Given the description of an element on the screen output the (x, y) to click on. 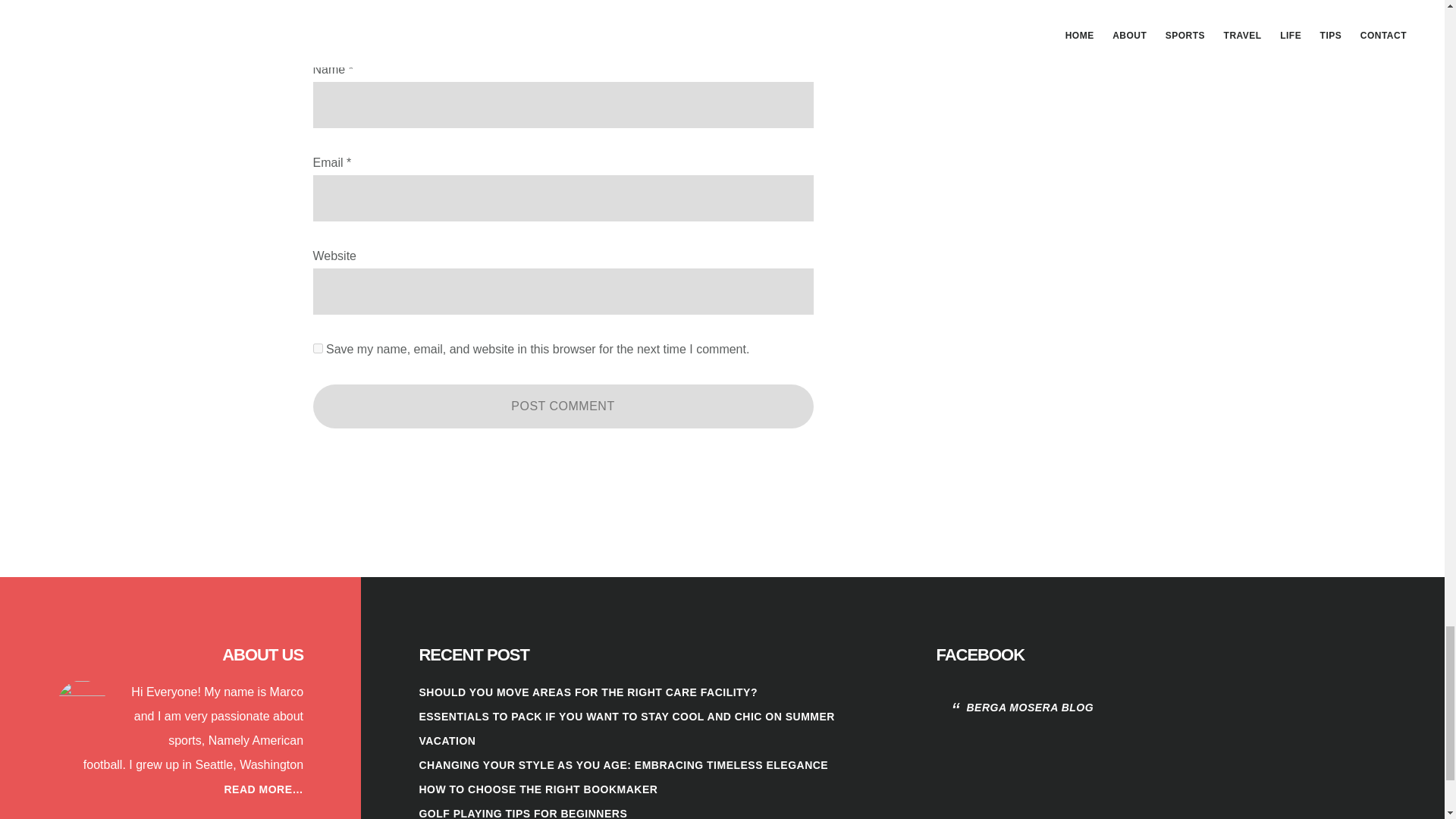
HOW TO CHOOSE THE RIGHT BOOKMAKER (538, 788)
Post Comment (562, 406)
SHOULD YOU MOVE AREAS FOR THE RIGHT CARE FACILITY? (588, 692)
CHANGING YOUR STYLE AS YOU AGE: EMBRACING TIMELESS ELEGANCE (623, 765)
Post Comment (562, 406)
yes (317, 347)
BERGA MOSERA BLOG (1029, 707)
GOLF PLAYING TIPS FOR BEGINNERS (523, 813)
